Given the description of an element on the screen output the (x, y) to click on. 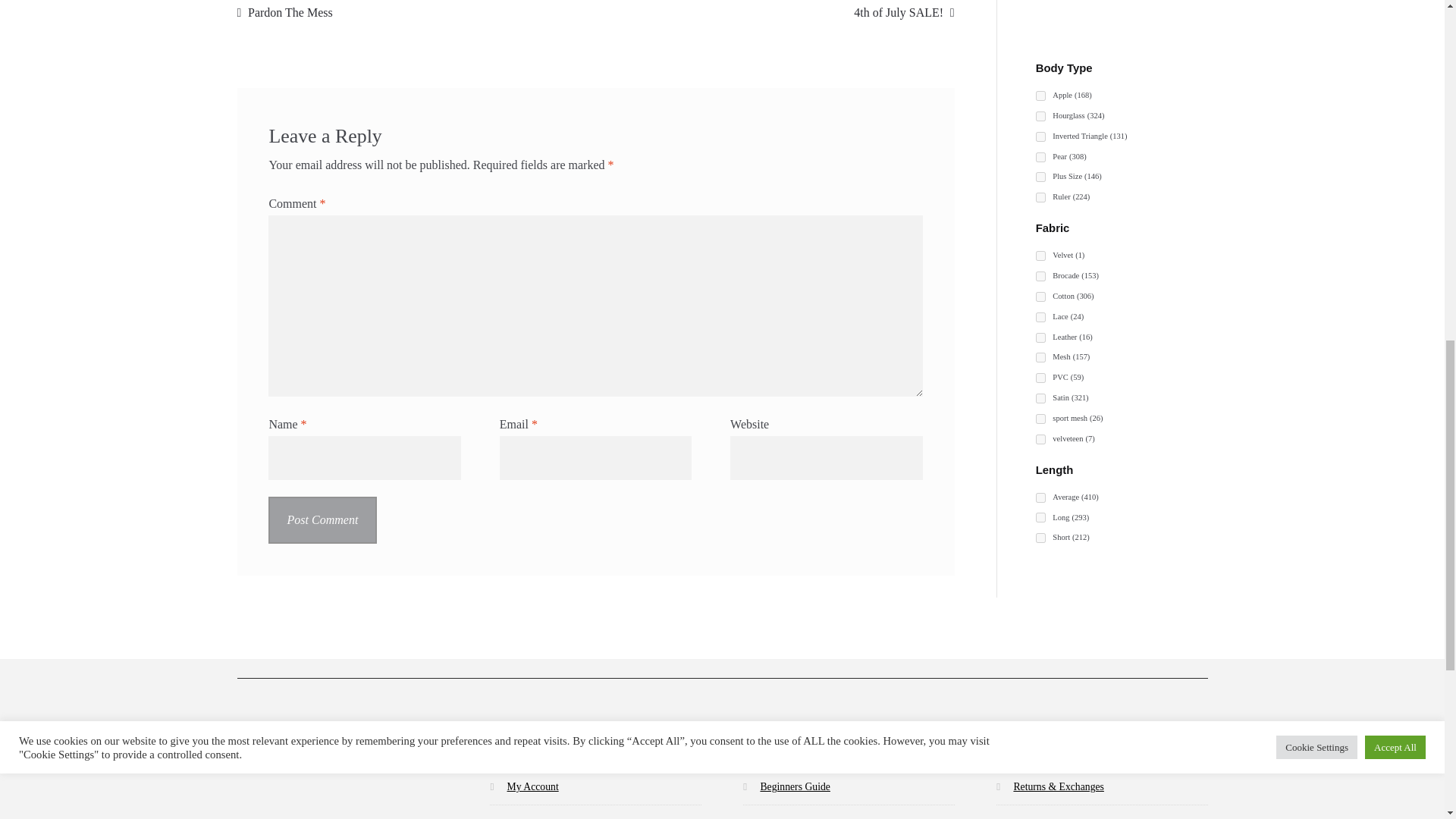
122 (1040, 136)
110 (1040, 296)
145 (1040, 276)
120 (1040, 176)
116 (1040, 95)
112 (1040, 337)
114 (1040, 157)
Post Comment (321, 519)
293 (1040, 317)
949 (1040, 255)
115 (1040, 197)
137 (1040, 116)
